Given the description of an element on the screen output the (x, y) to click on. 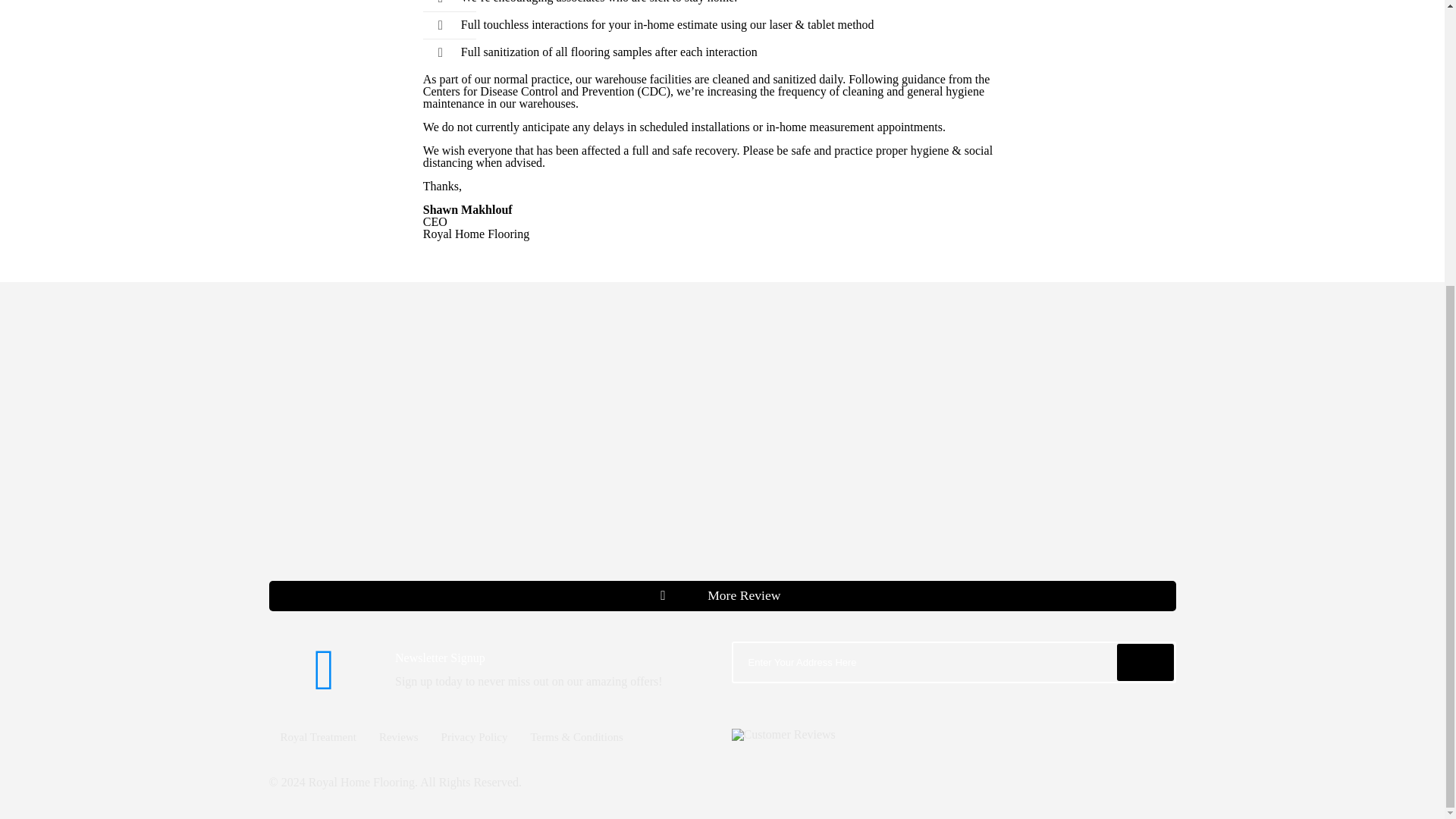
Royal Treatment (316, 737)
More Review (720, 595)
More Review (720, 595)
Privacy Policy (474, 737)
Reviews (398, 737)
